Given the description of an element on the screen output the (x, y) to click on. 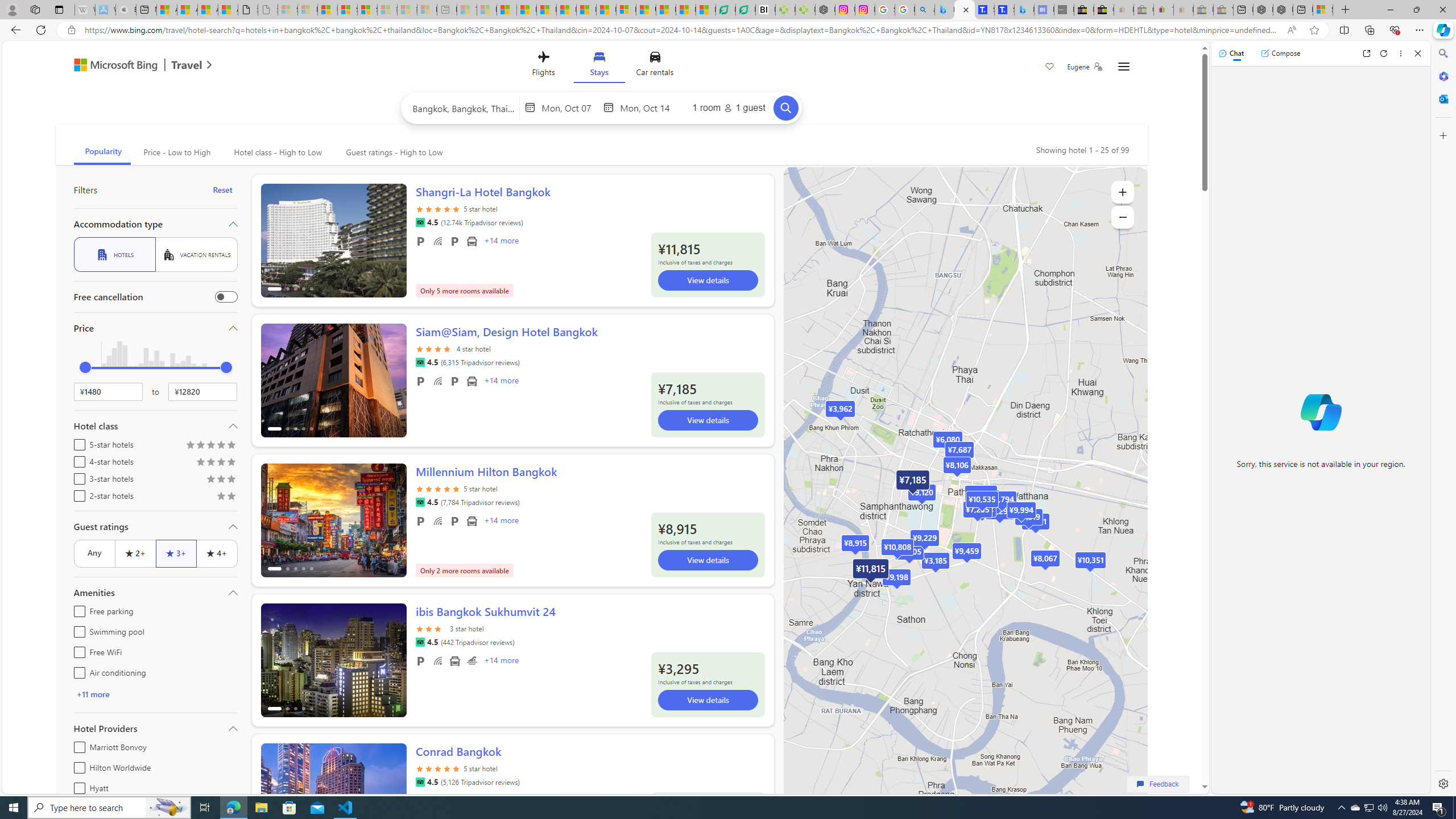
Class: msft-bing-logo msft-bing-logo-desktop (112, 64)
Aberdeen, Hong Kong SAR weather forecast | Microsoft Weather (186, 9)
End date (647, 107)
Start Date (569, 107)
+11 more (154, 694)
2-star hotels (76, 493)
Microsoft account | Account Checkup - Sleeping (427, 9)
Save (1049, 67)
Microsoft Bing Travel - Flights from Hong Kong to Bangkok (944, 9)
Sign in to your Microsoft account (1322, 9)
